Given the description of an element on the screen output the (x, y) to click on. 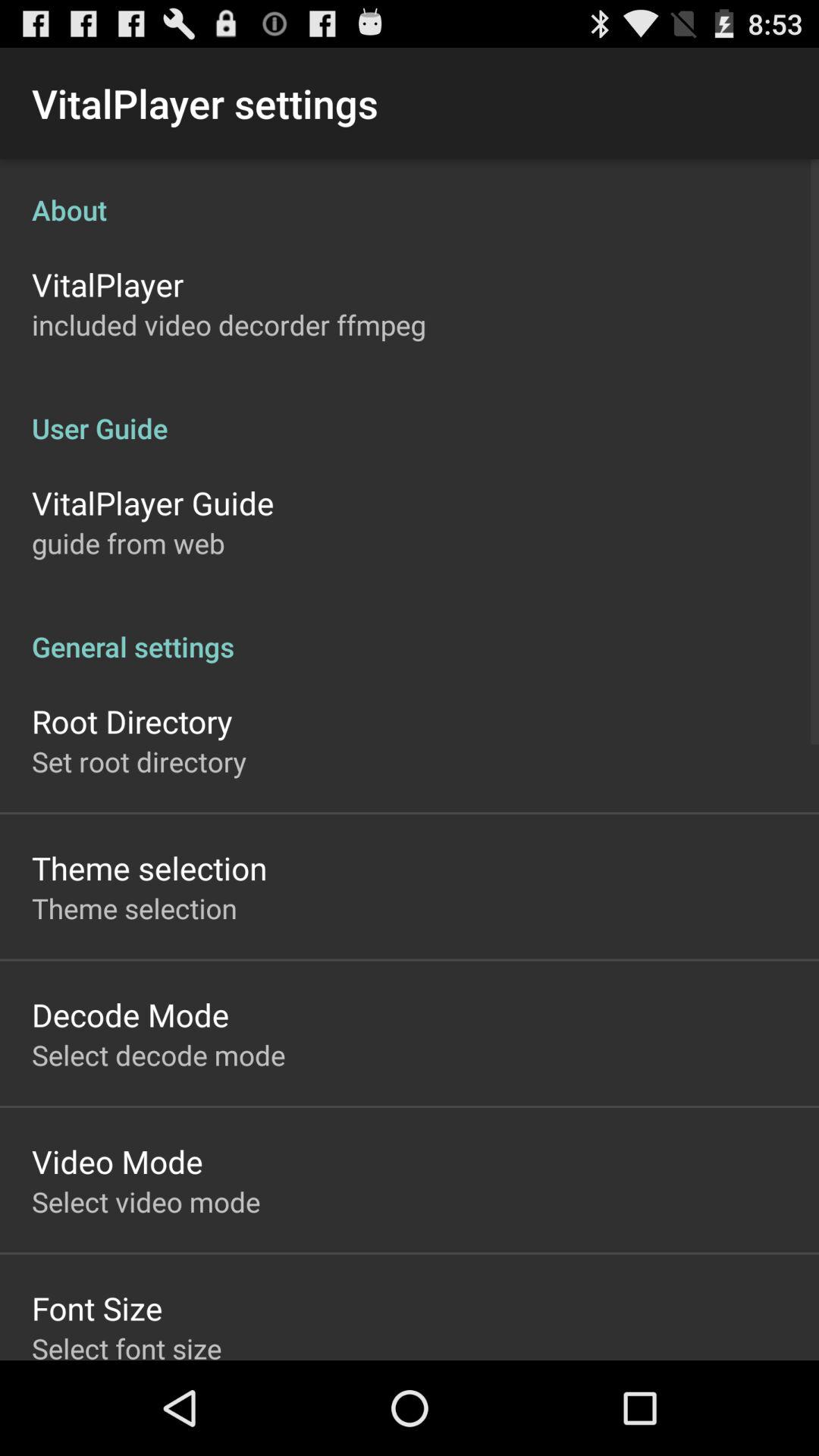
jump until about (409, 193)
